Given the description of an element on the screen output the (x, y) to click on. 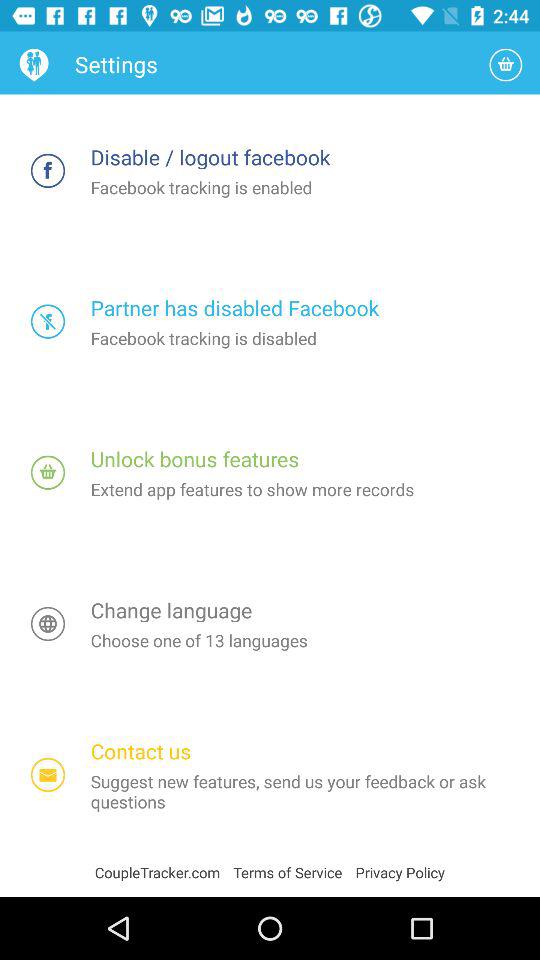
launch the app next to the change language icon (47, 623)
